Given the description of an element on the screen output the (x, y) to click on. 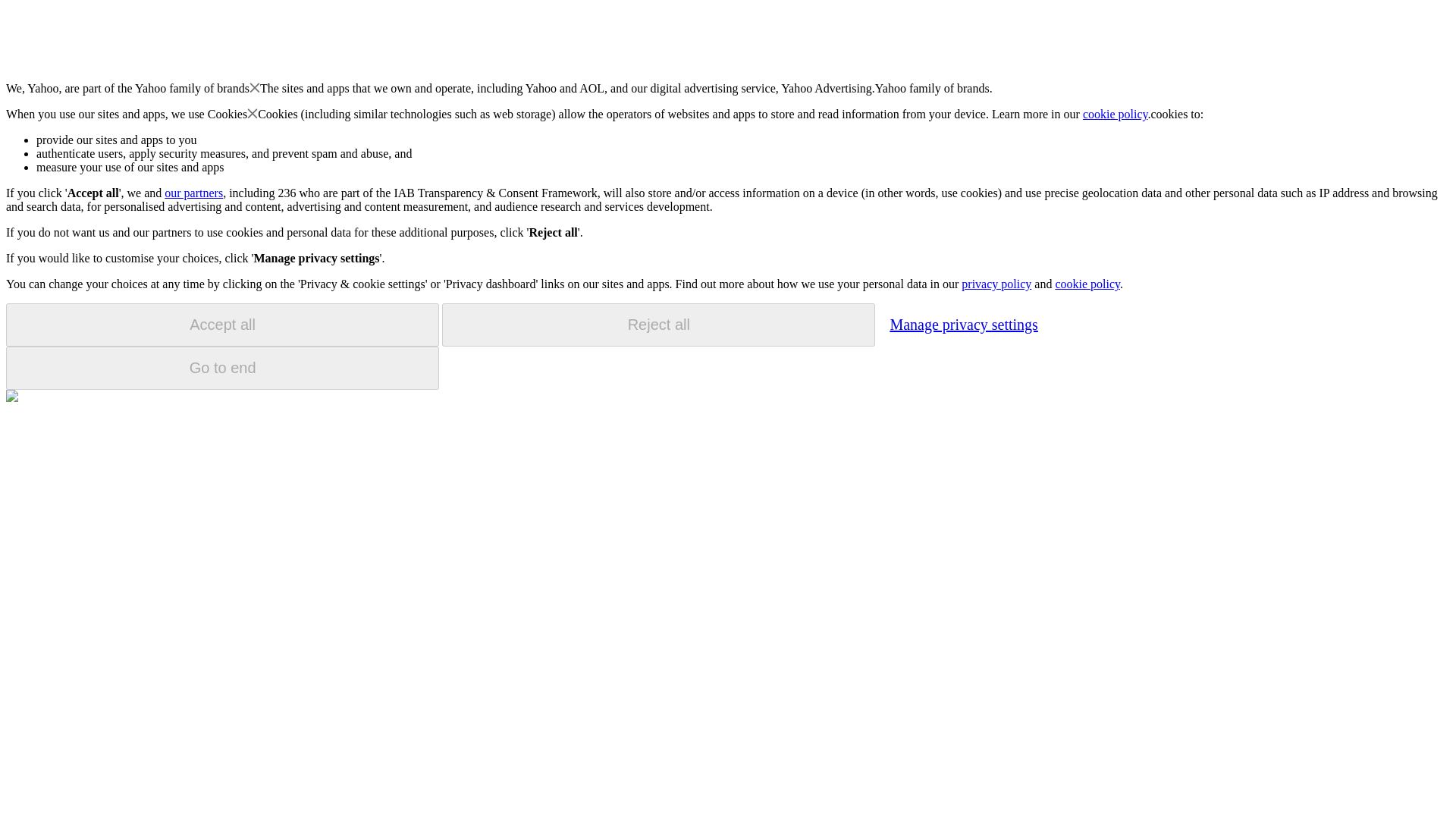
Go to end (222, 367)
our partners (193, 192)
Reject all (658, 324)
Accept all (222, 324)
cookie policy (1086, 283)
privacy policy (995, 283)
cookie policy (1115, 113)
Manage privacy settings (963, 323)
